Given the description of an element on the screen output the (x, y) to click on. 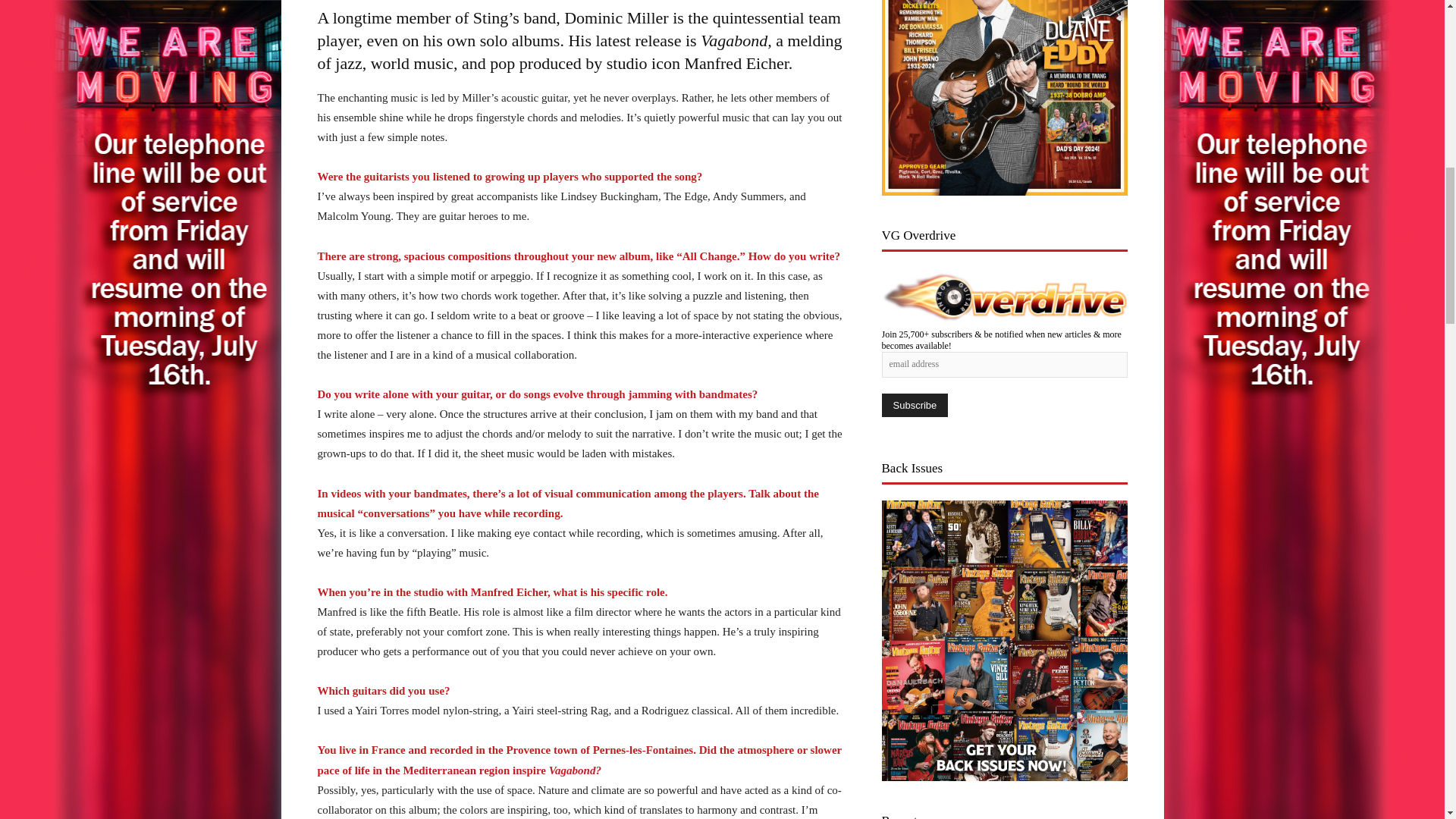
Subscribe (913, 404)
